Given the description of an element on the screen output the (x, y) to click on. 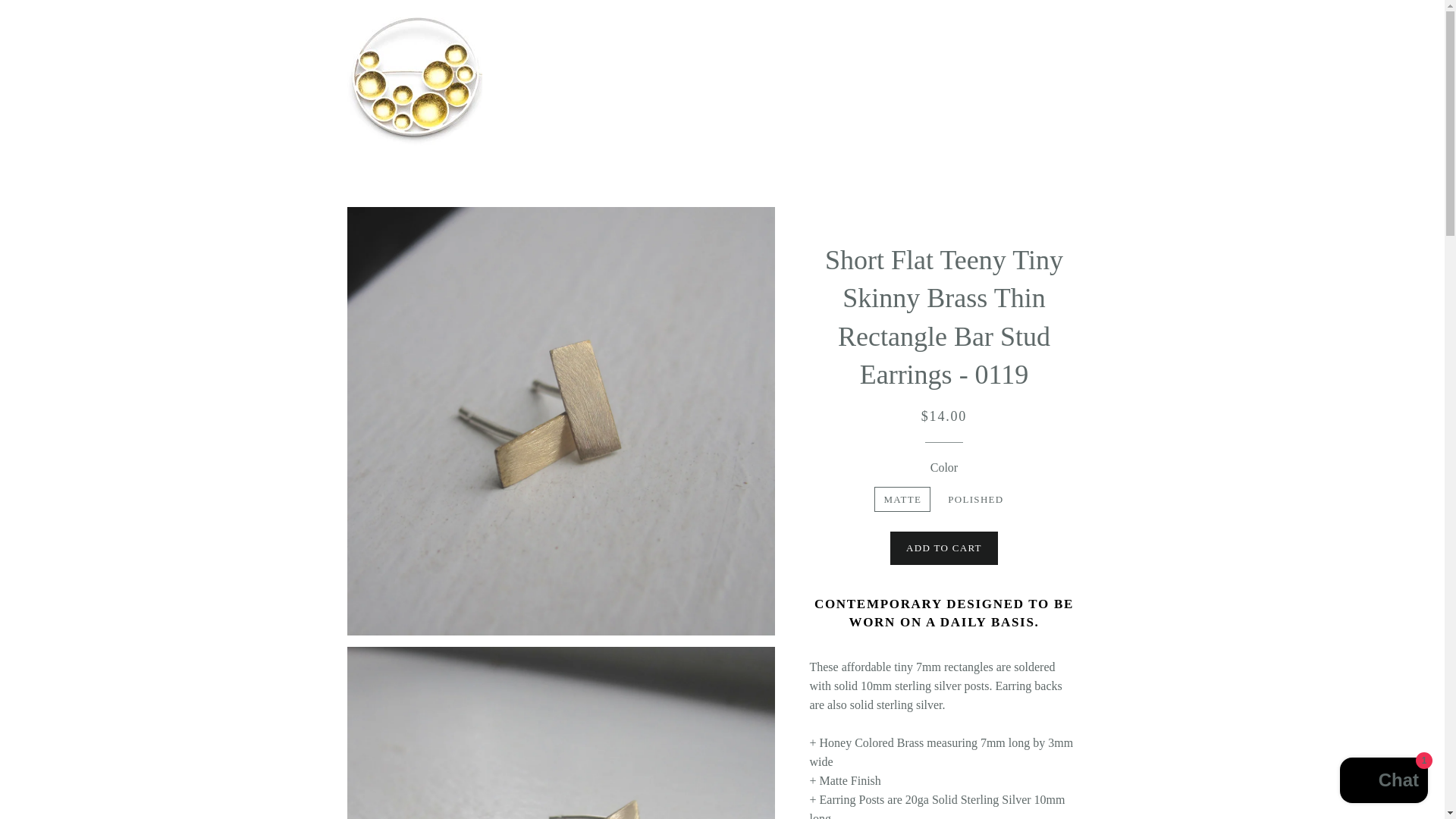
Shopify online store chat (1383, 781)
